Given the description of an element on the screen output the (x, y) to click on. 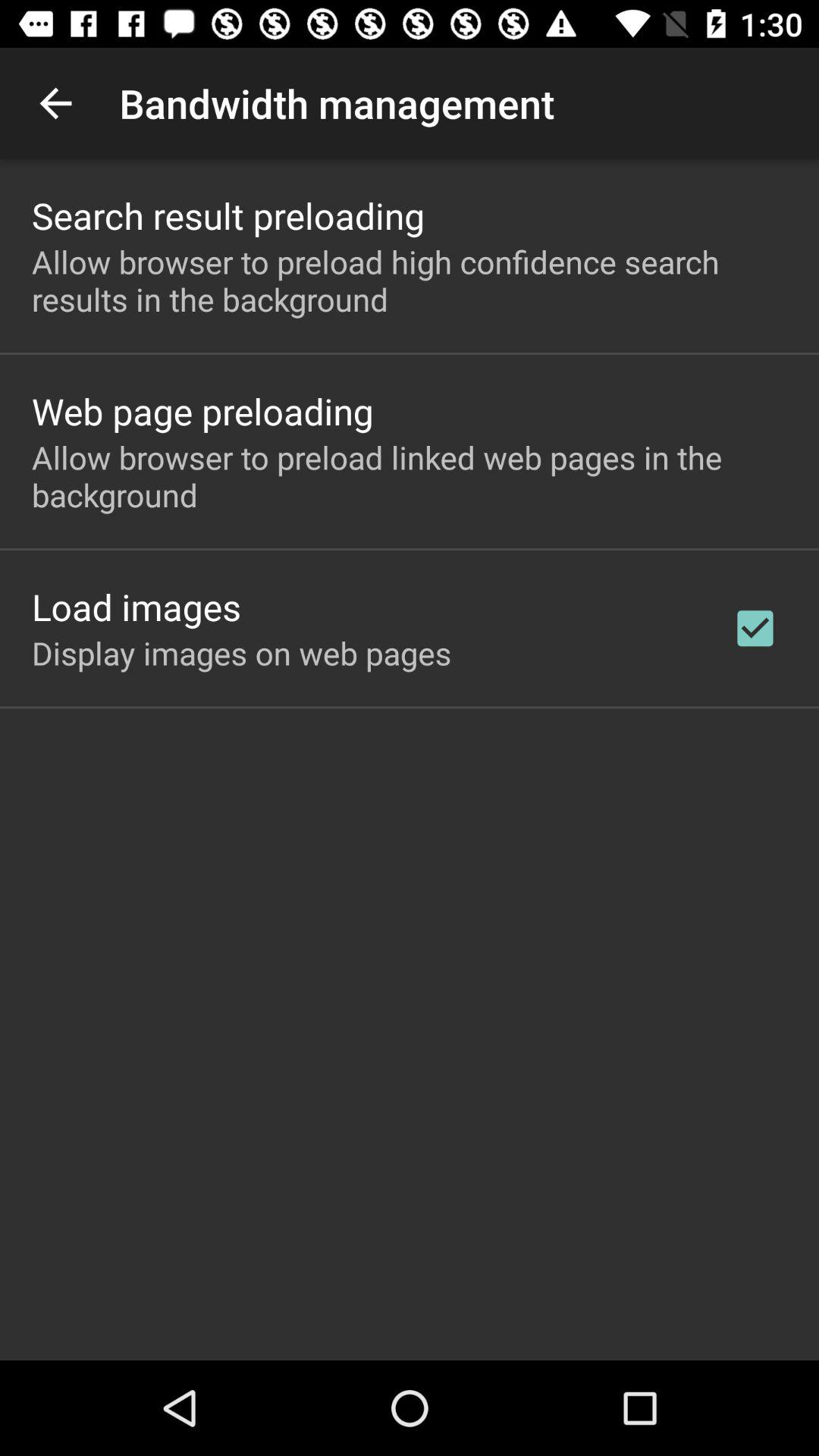
click the app to the left of the bandwidth management icon (55, 103)
